Given the description of an element on the screen output the (x, y) to click on. 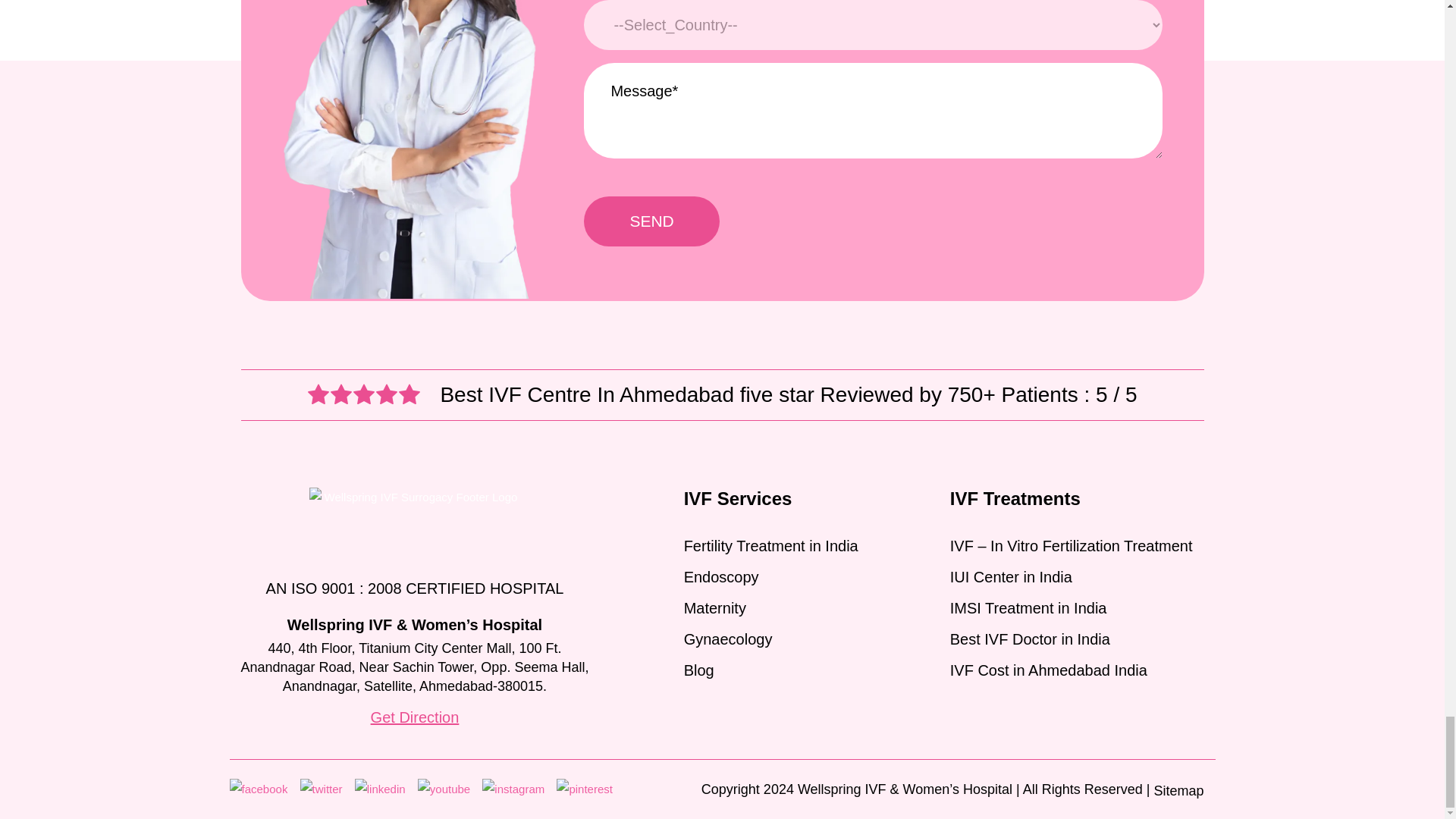
Send (651, 221)
